Given the description of an element on the screen output the (x, y) to click on. 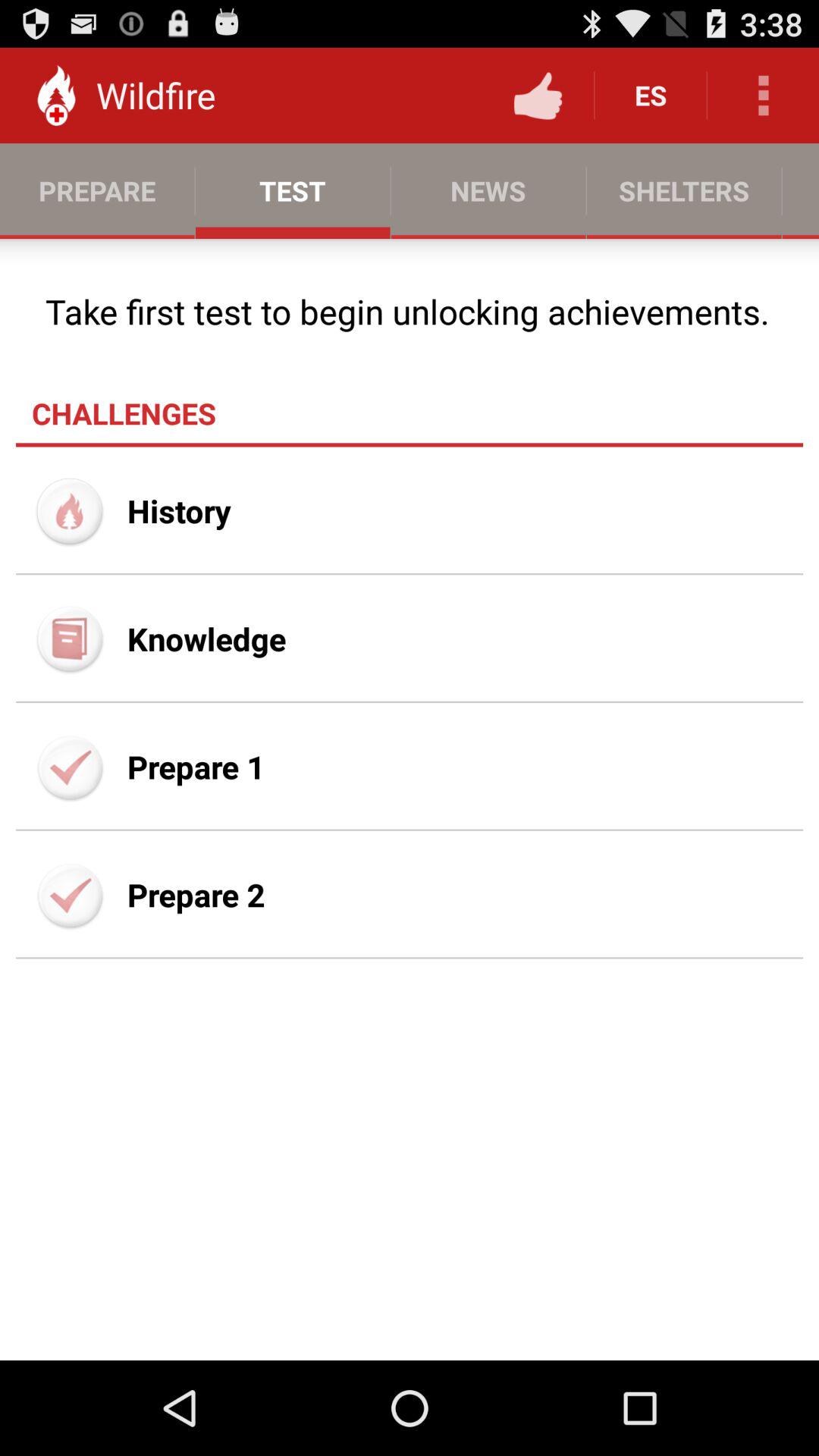
choose es (650, 95)
